Given the description of an element on the screen output the (x, y) to click on. 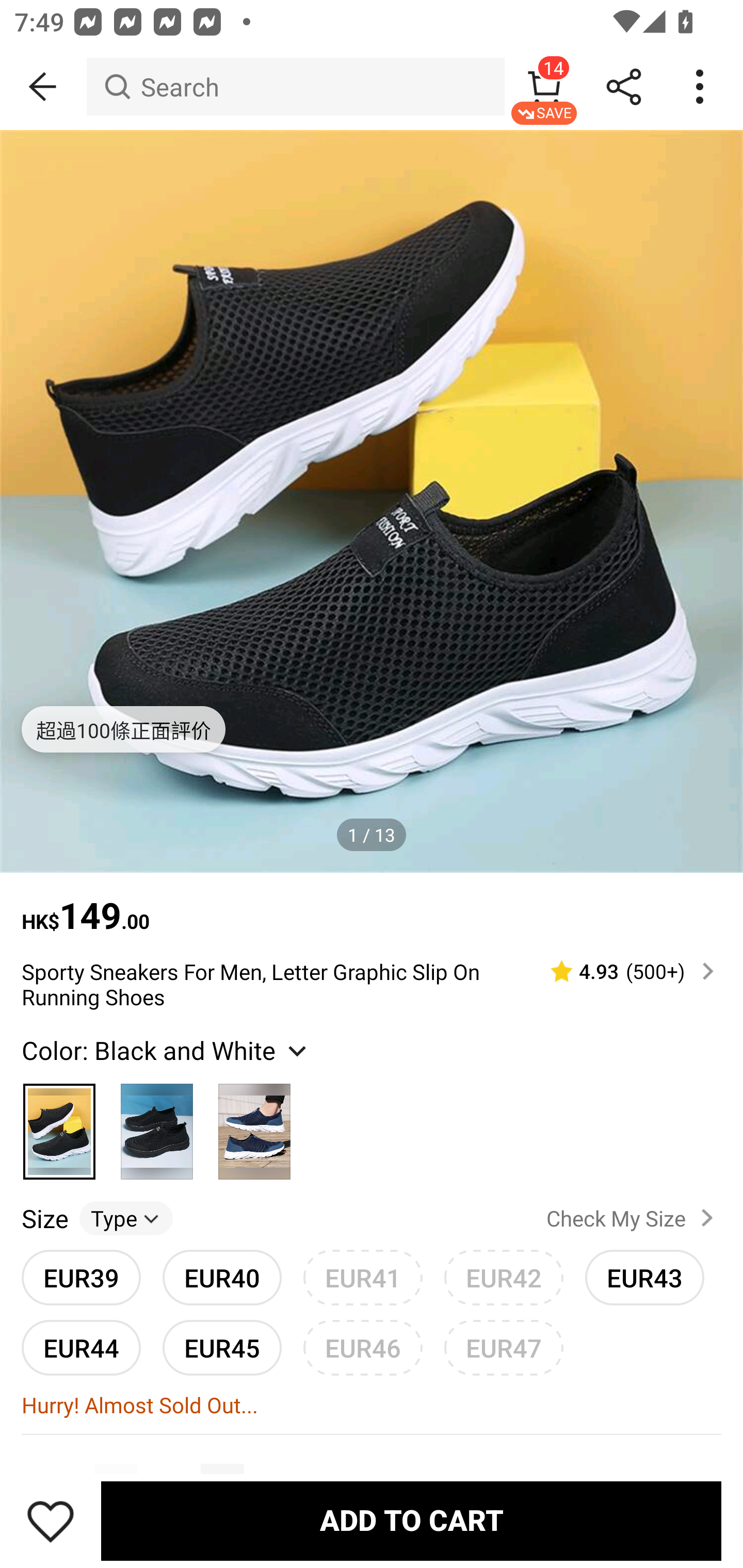
BACK (43, 86)
14 SAVE (543, 87)
Search (295, 87)
PHOTOS 1 / 13 超過100條正面評价 (371, 501)
1 / 13 (371, 834)
HK$149.00 (371, 906)
4.93 (500‎+) (623, 971)
Color: Black and White (166, 1050)
Black and White (59, 1123)
Black (156, 1123)
Blue (254, 1123)
Size (44, 1218)
Type (126, 1218)
Check My Size (633, 1217)
EUR39 EUR43unselected option (81, 1277)
EUR40 EUR44unselected option (221, 1277)
EUR41 EUR45 (362, 1277)
EUR42 EUR46 (503, 1277)
EUR43 EUR47unselected option (644, 1277)
EUR44 unselected option (81, 1347)
EUR45 unselected option (221, 1347)
EUR46 (362, 1347)
EUR47 (503, 1347)
Hurry! Almost Sold Out... (371, 1404)
ADD TO CART (411, 1520)
Save (50, 1520)
